Given the description of an element on the screen output the (x, y) to click on. 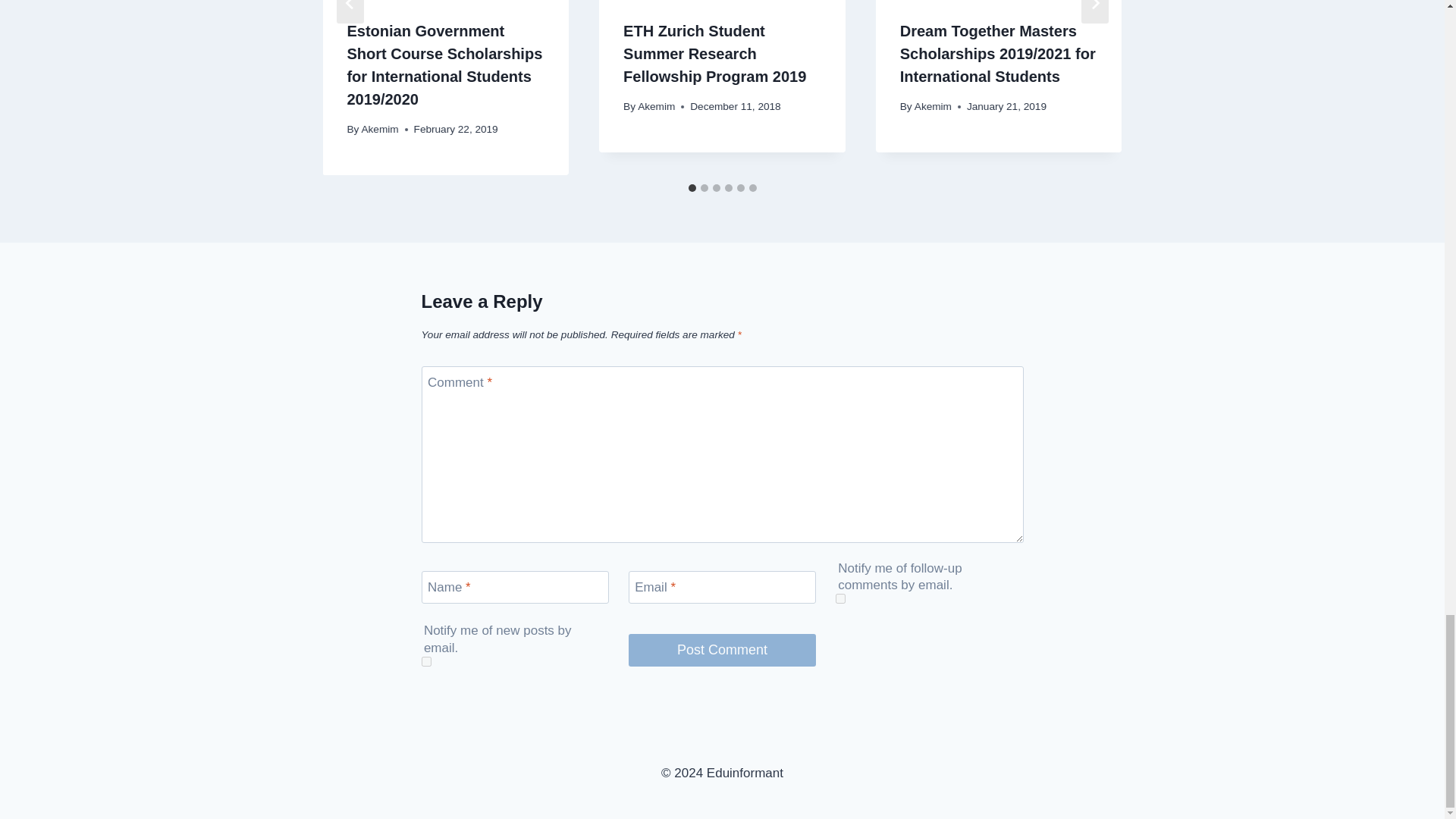
subscribe (426, 661)
Post Comment (722, 649)
subscribe (840, 598)
